Given the description of an element on the screen output the (x, y) to click on. 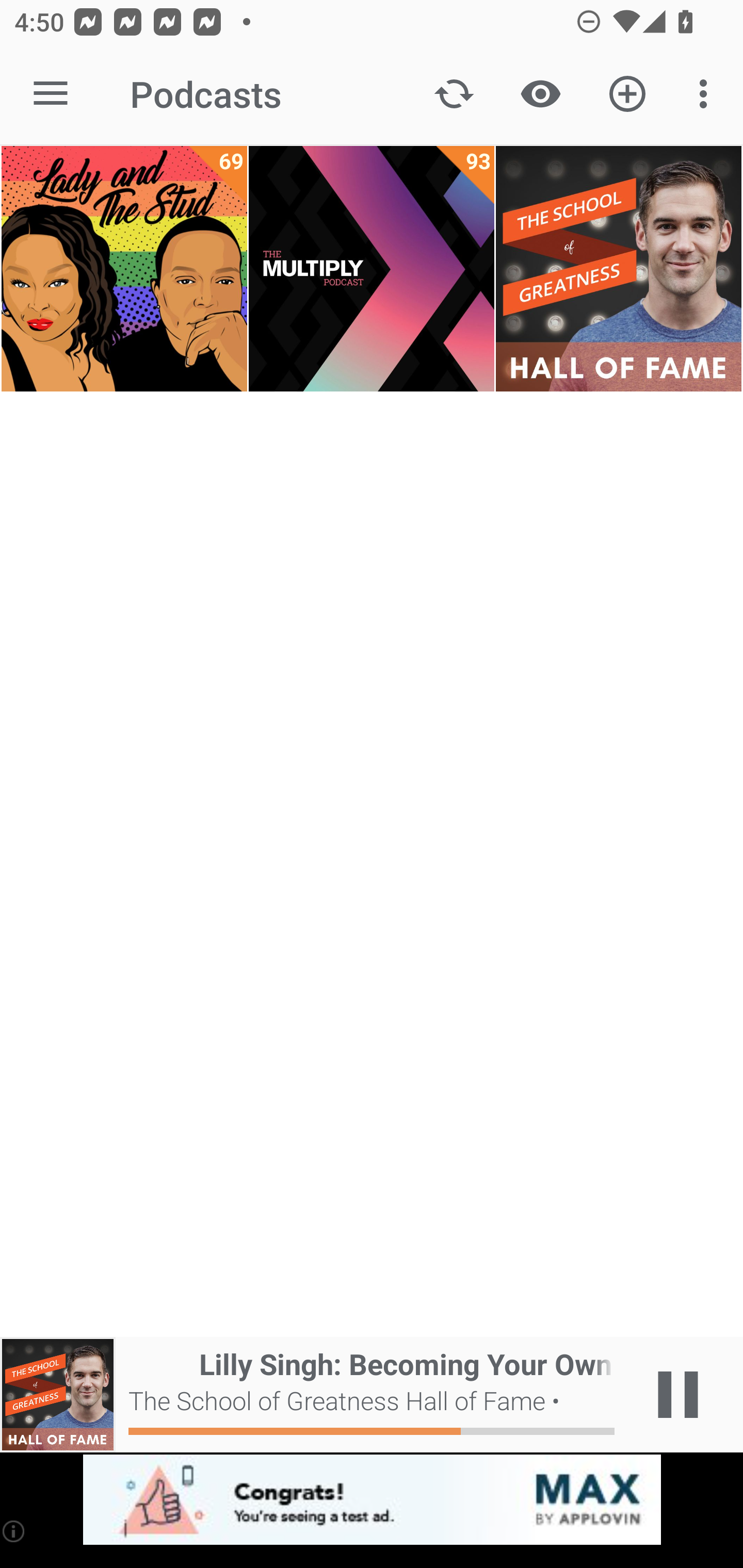
Open navigation sidebar (50, 93)
Update (453, 93)
Show / Hide played content (540, 93)
Add new Podcast (626, 93)
More options (706, 93)
Lady and The Stud 69 (124, 268)
The Multiply Podcast 93 (371, 268)
The School of Greatness Hall of Fame (618, 268)
Play / Pause (677, 1394)
app-monetization (371, 1500)
(i) (14, 1531)
